Given the description of an element on the screen output the (x, y) to click on. 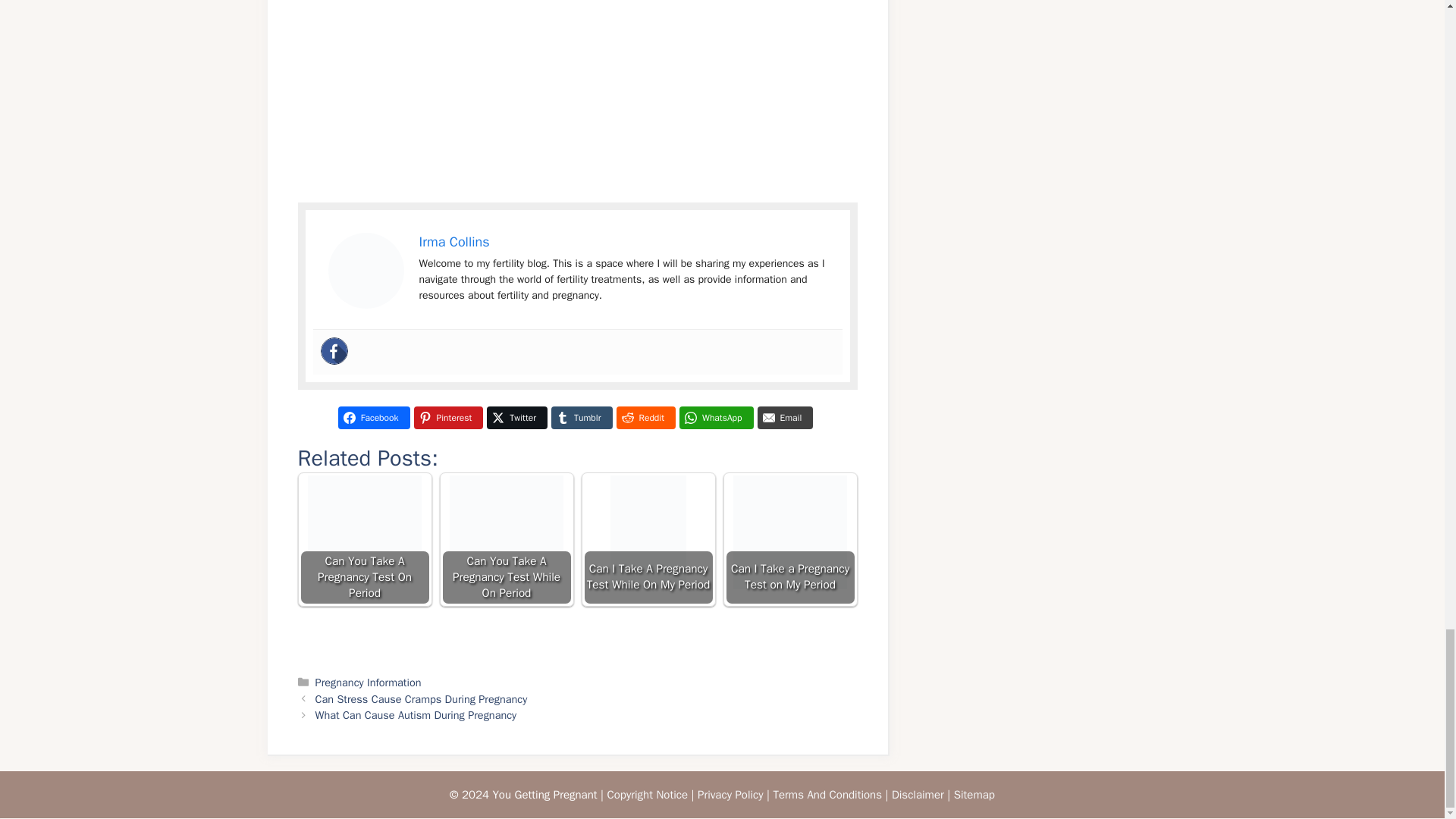
Tumblr (581, 417)
WhatsApp (716, 417)
Email (785, 417)
What Can Cause Autism During Pregnancy (415, 714)
Facebook (333, 350)
Pinterest (448, 417)
Irma Collins (454, 241)
Facebook (373, 417)
Can I Take A Pregnancy Test While On My Period (648, 539)
Twitter (516, 417)
Can You Take A Pregnancy Test On Period (364, 539)
Share on Facebook (373, 417)
Can You Take A Pregnancy Test While On Period (505, 539)
Can You Take A Pregnancy Test After Your Period (365, 270)
Share on Twitter (516, 417)
